Given the description of an element on the screen output the (x, y) to click on. 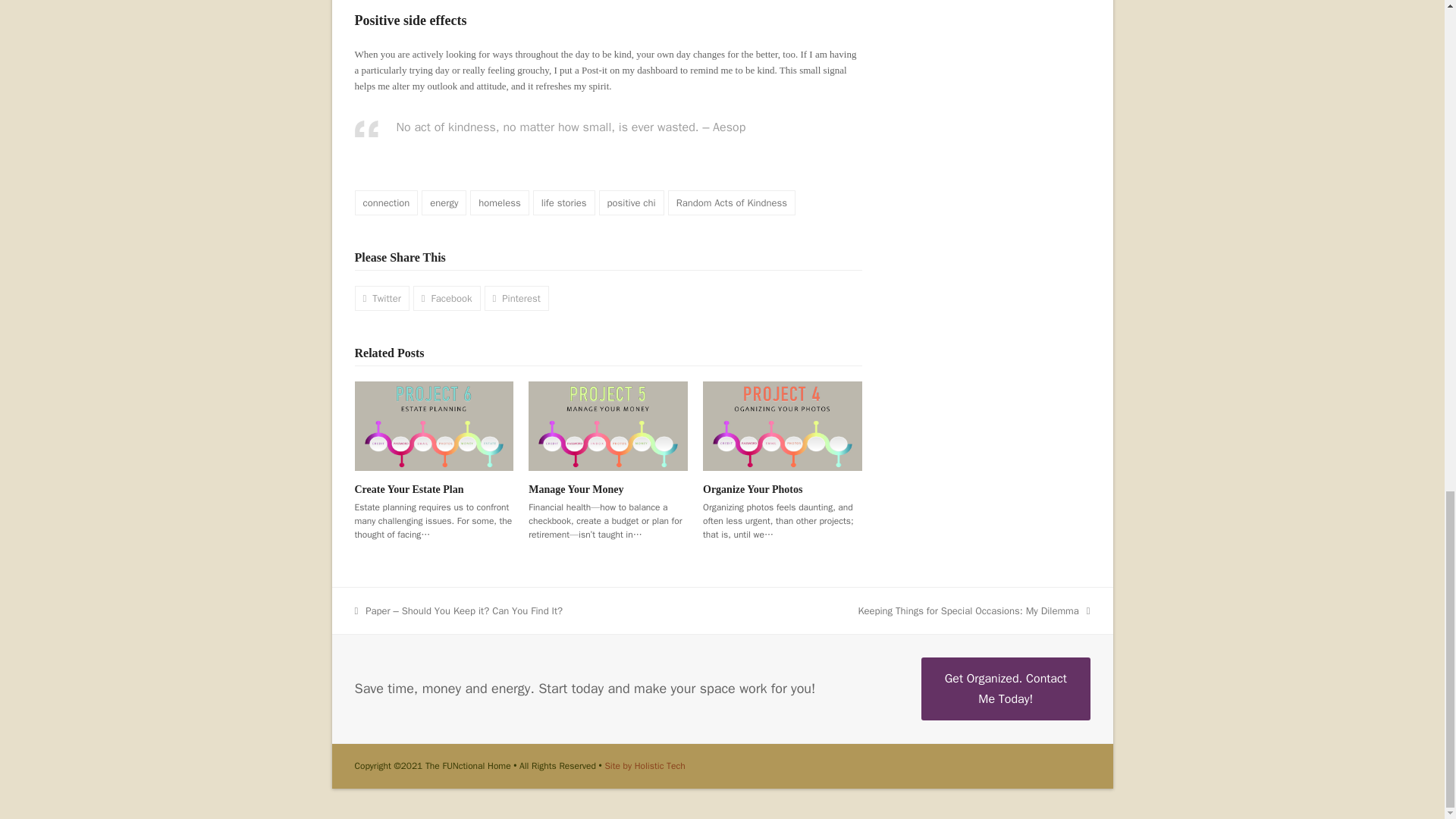
Create Your Estate Plan (434, 424)
life stories (563, 201)
Organize Your Photos (782, 424)
Manage Your Money (607, 424)
positive chi (630, 201)
energy (443, 201)
homeless (499, 201)
connection (387, 201)
